Given the description of an element on the screen output the (x, y) to click on. 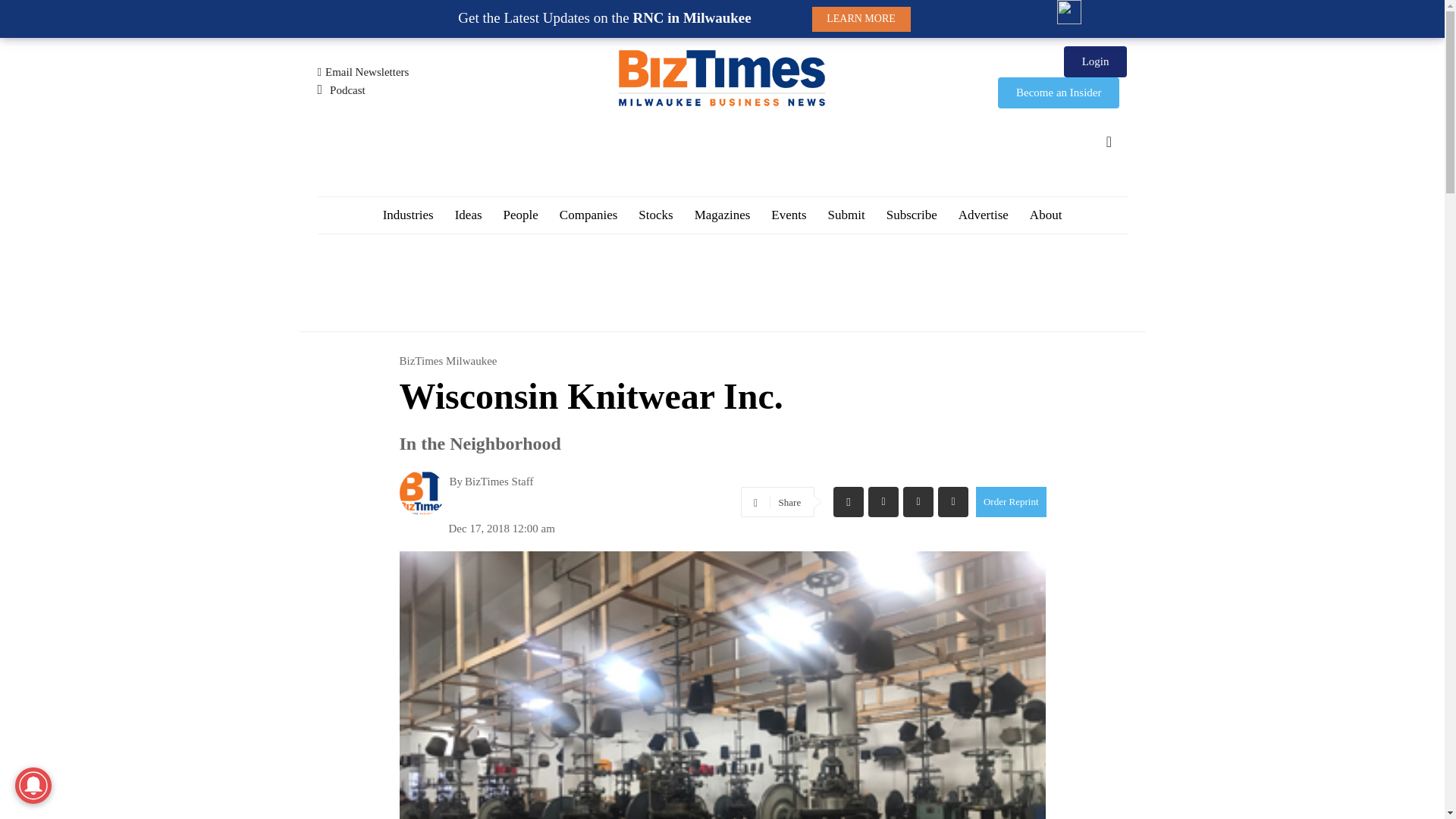
Login (1095, 60)
Become an Insider (1058, 92)
